Given the description of an element on the screen output the (x, y) to click on. 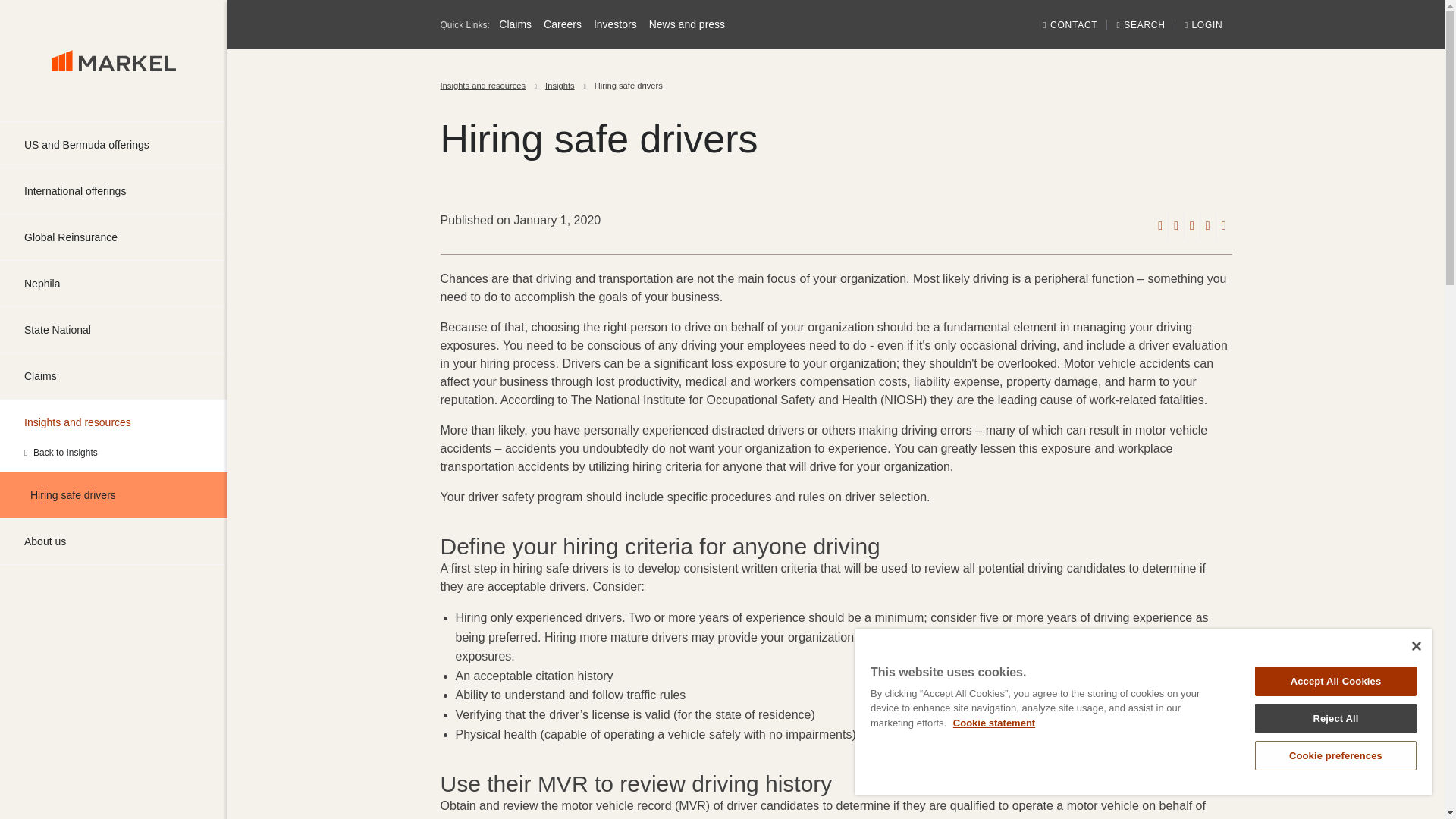
Reject All (1335, 718)
Global Reinsurance (113, 237)
Claims (113, 375)
US and Bermuda offerings (113, 144)
Insights (113, 452)
Cookie preferences (1335, 755)
About us (113, 541)
Insights and resources (482, 86)
State National (113, 329)
Accept All Cookies (1335, 681)
